Given the description of an element on the screen output the (x, y) to click on. 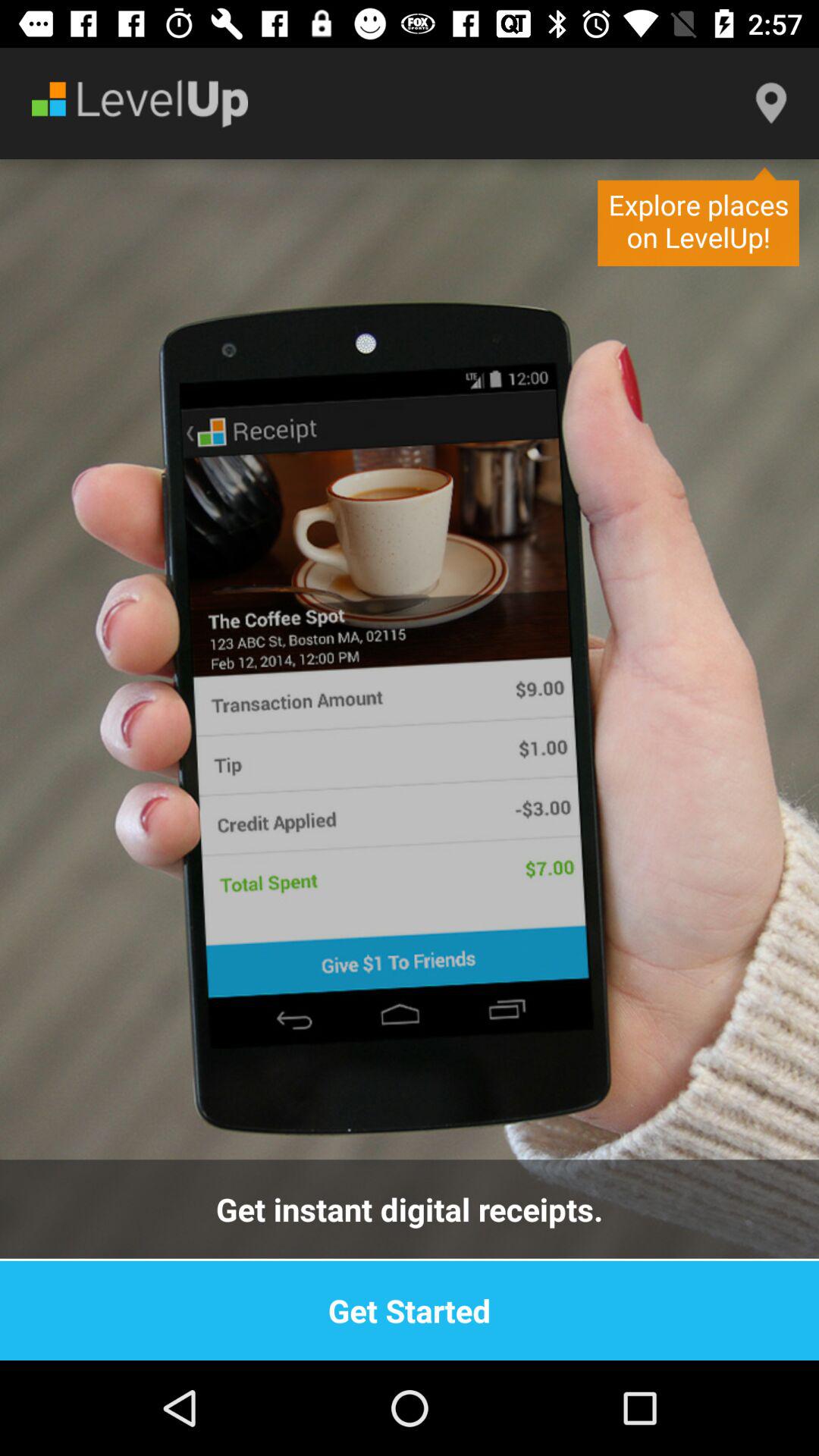
flip until the get started (409, 1310)
